Given the description of an element on the screen output the (x, y) to click on. 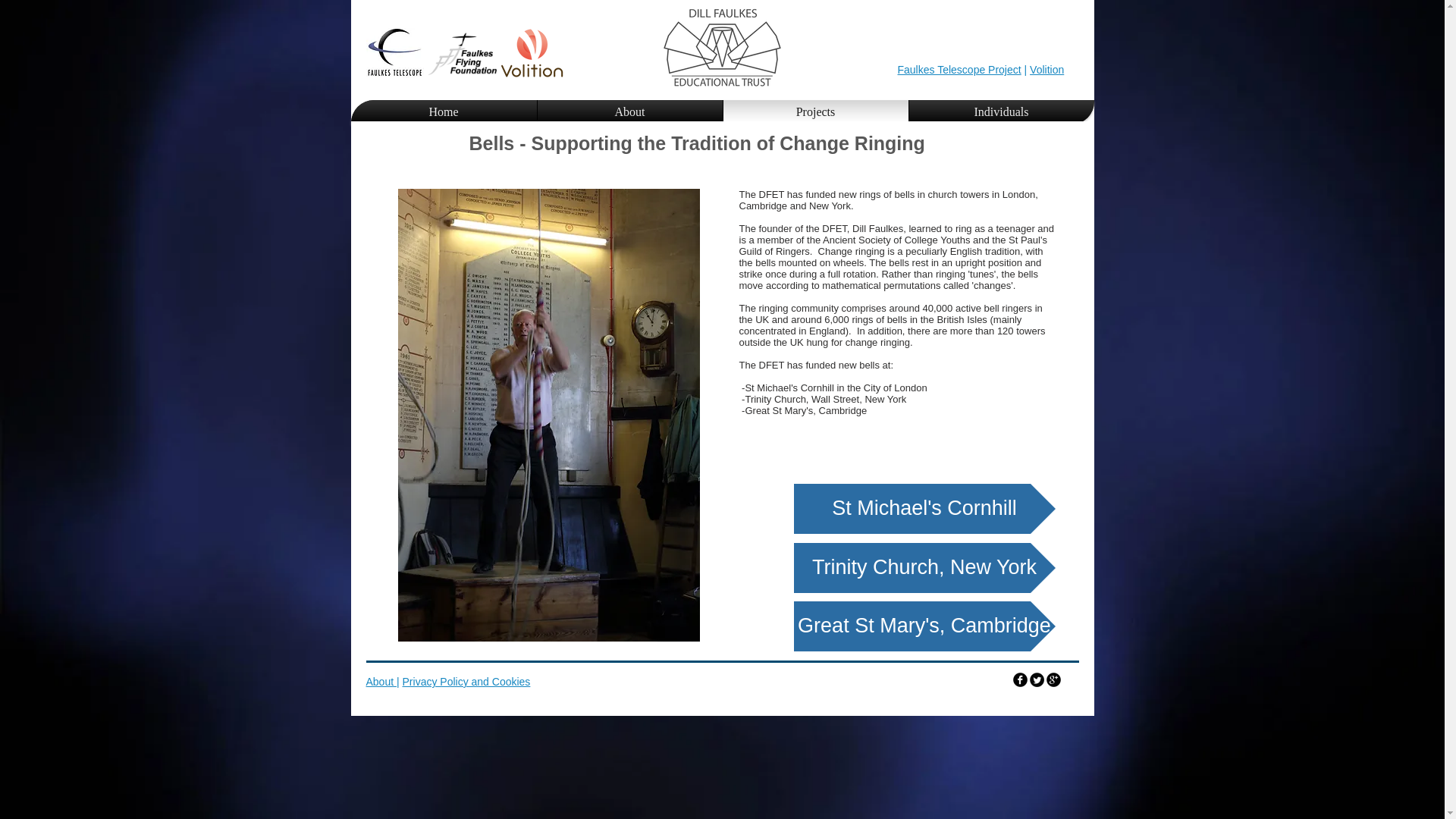
About (629, 111)
Faulkes Telescope Project (960, 69)
St Michael's Cornhill (923, 508)
Volition (1046, 69)
Great St Mary's, Cambridge (923, 626)
Privacy Policy and Cookies (467, 681)
Projects (815, 111)
Home (442, 111)
Individuals (1000, 111)
Trinity Church, New York (923, 567)
